Given the description of an element on the screen output the (x, y) to click on. 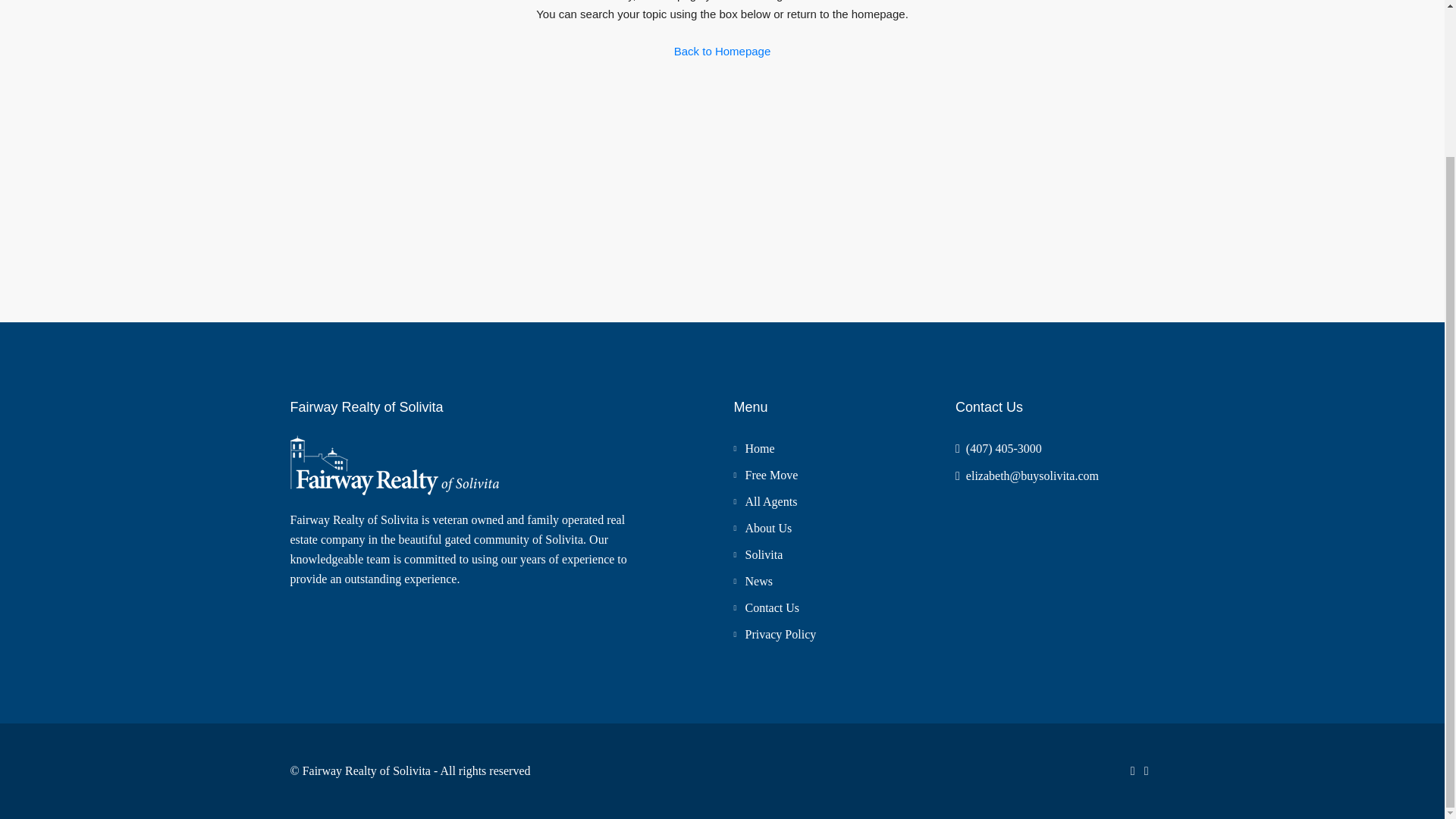
Solivita (758, 554)
News (752, 581)
Home (753, 448)
Free Move (765, 474)
Privacy Policy (774, 634)
Back to Homepage (722, 51)
All Agents (764, 501)
Contact Us (766, 607)
About Us (762, 527)
